Given the description of an element on the screen output the (x, y) to click on. 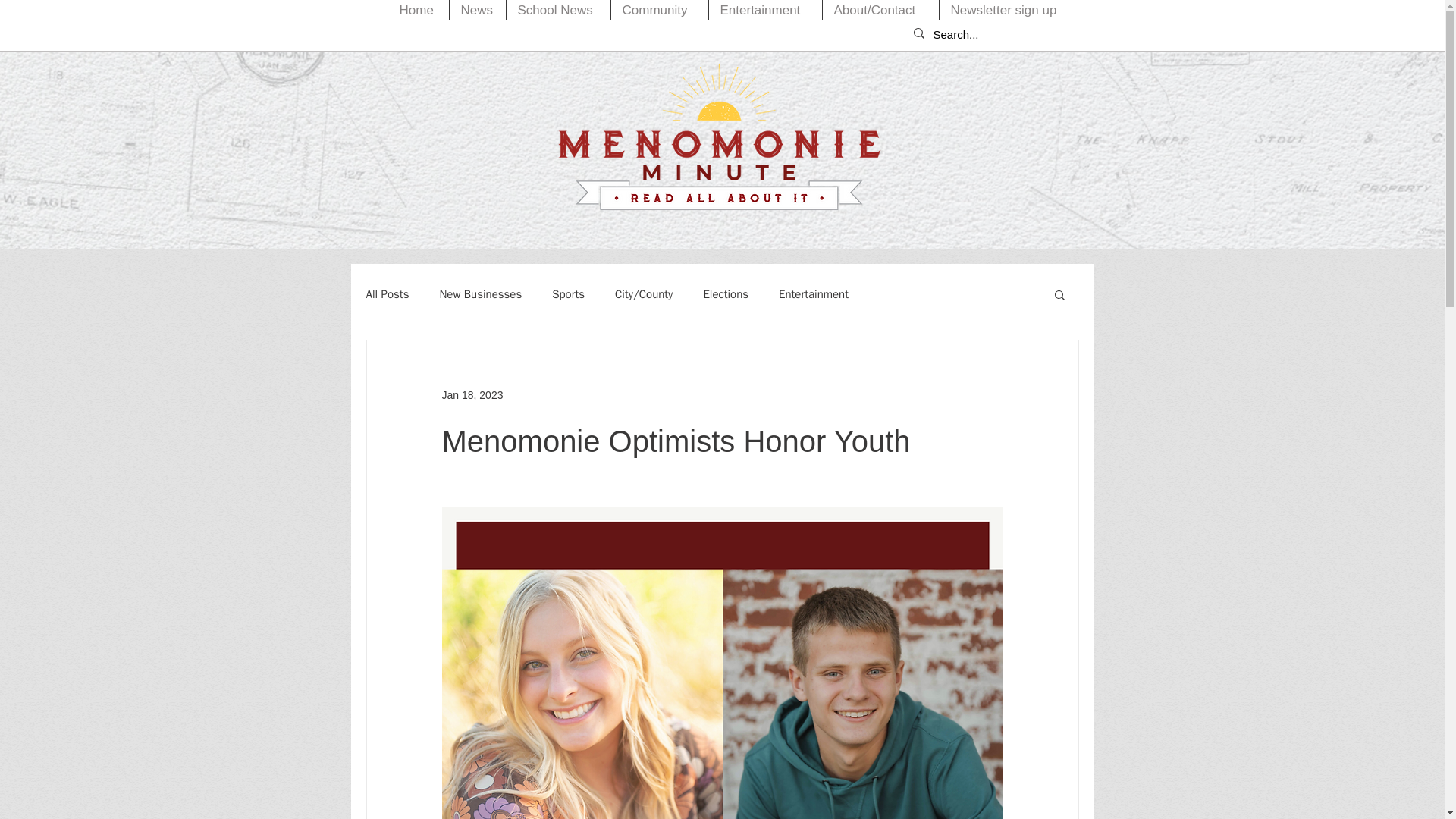
Sports (568, 293)
Entertainment (813, 293)
All Posts (387, 293)
Home (418, 10)
New Businesses (480, 293)
Jan 18, 2023 (471, 394)
Elections (725, 293)
Newsletter sign up (1007, 10)
